Given the description of an element on the screen output the (x, y) to click on. 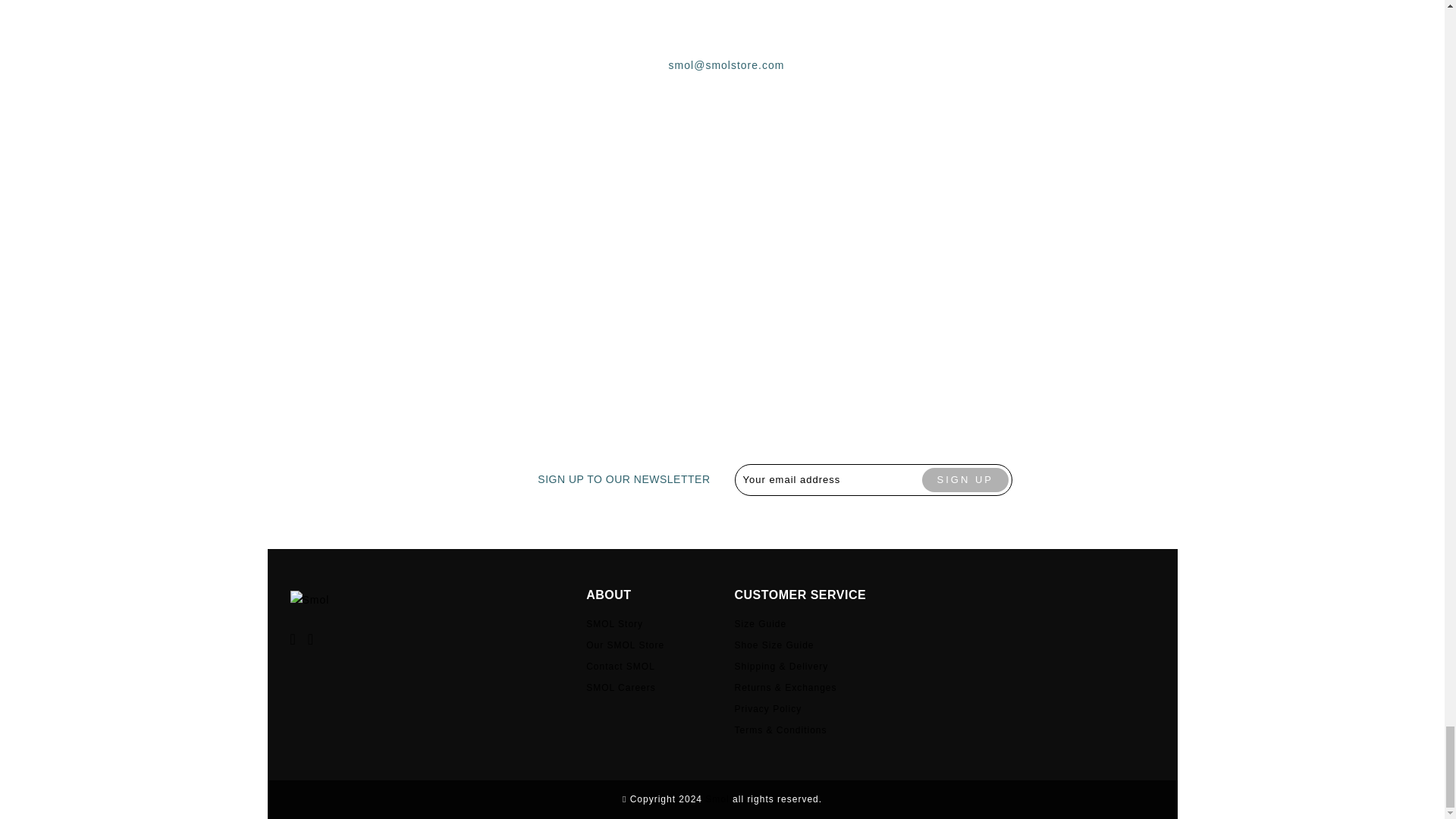
Sign up (965, 479)
